Given the description of an element on the screen output the (x, y) to click on. 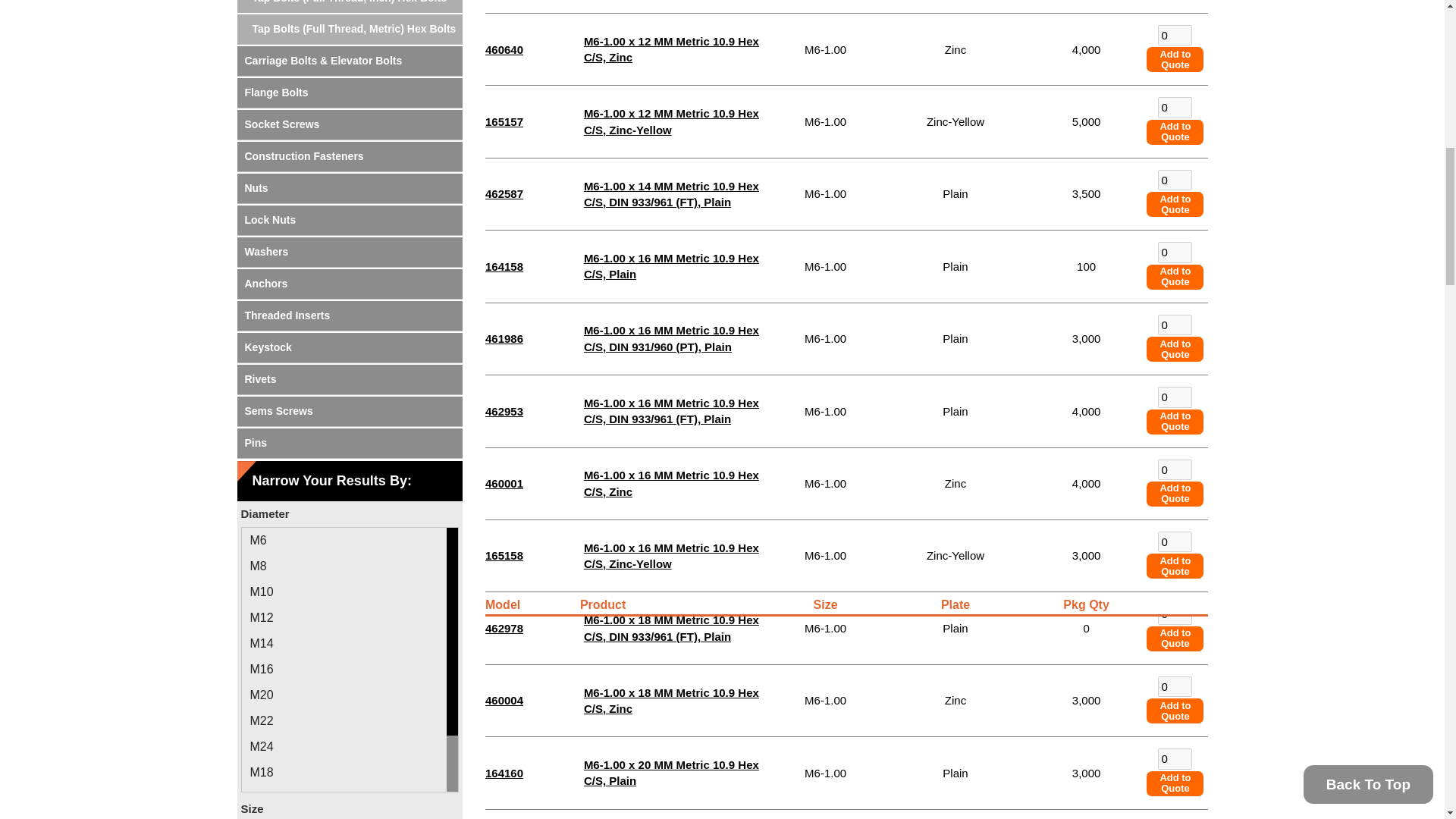
0 (1174, 686)
0 (1174, 758)
0 (1174, 107)
0 (1174, 541)
0 (1174, 396)
0 (1174, 251)
0 (1174, 613)
0 (1174, 179)
0 (1174, 469)
0 (1174, 35)
